Given the description of an element on the screen output the (x, y) to click on. 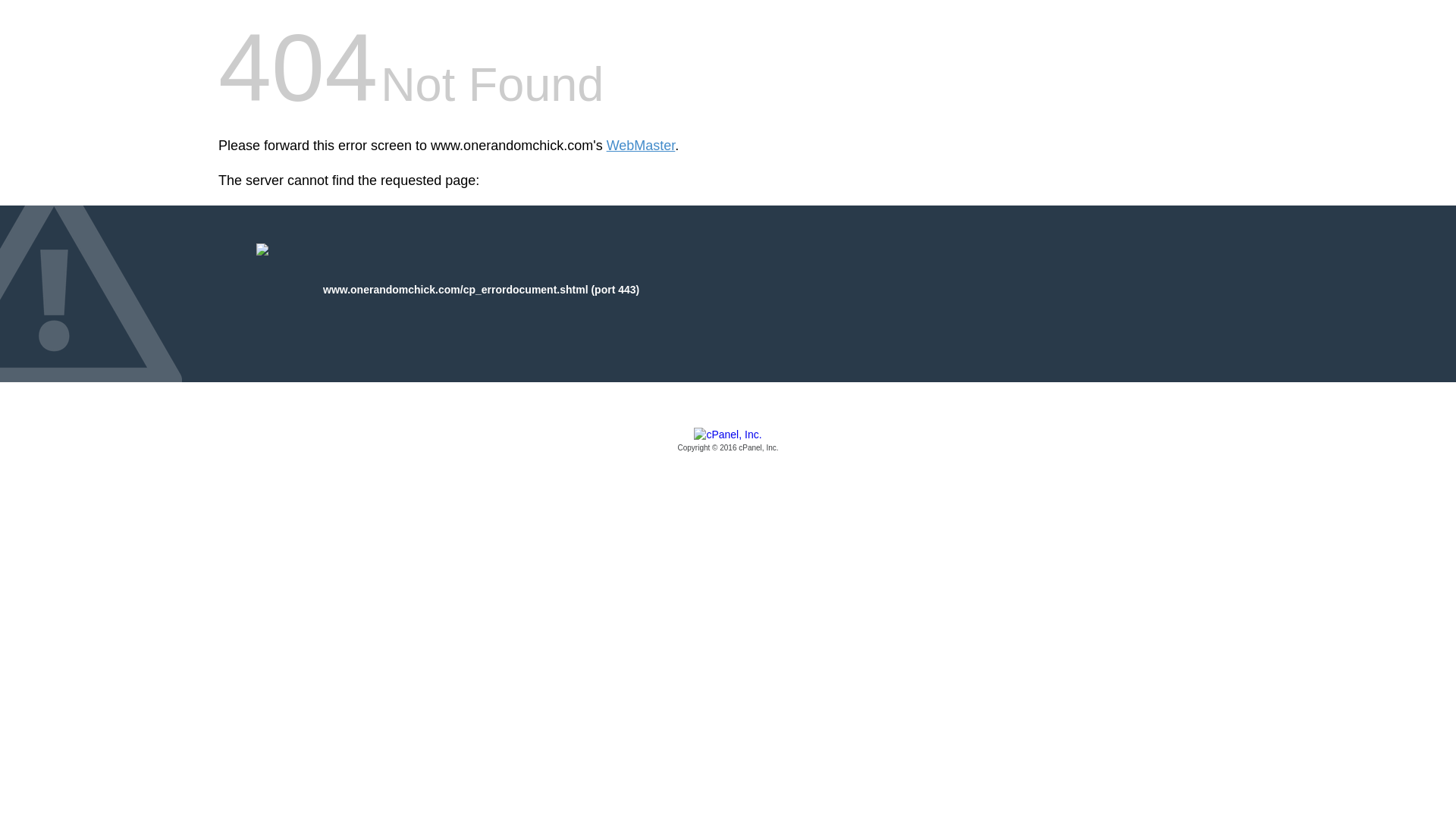
WebMaster (641, 145)
cPanel, Inc. (727, 440)
